Given the description of an element on the screen output the (x, y) to click on. 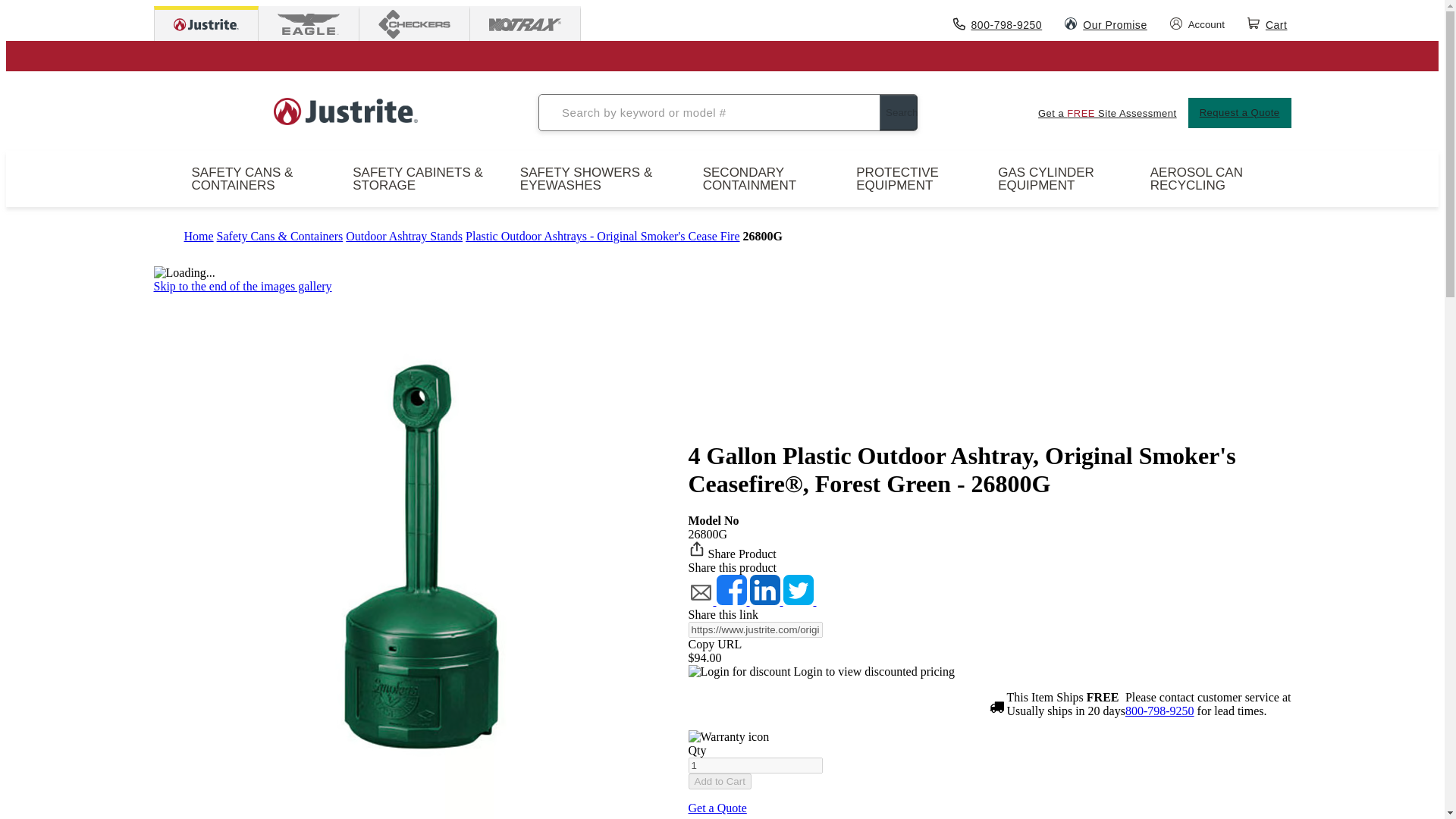
Qty (755, 765)
Checkers Store (413, 24)
Cart (1269, 22)
Justrite logo (345, 112)
Our Promise (1105, 22)
1 (755, 765)
Add to Cart (719, 781)
Search (898, 112)
Go to Home Page (197, 236)
Get a FREE Site Assessment (1107, 112)
Request a Quote (1239, 112)
Search (898, 112)
800-798-9250 (997, 22)
Justrite Store (205, 25)
Account (1197, 23)
